Given the description of an element on the screen output the (x, y) to click on. 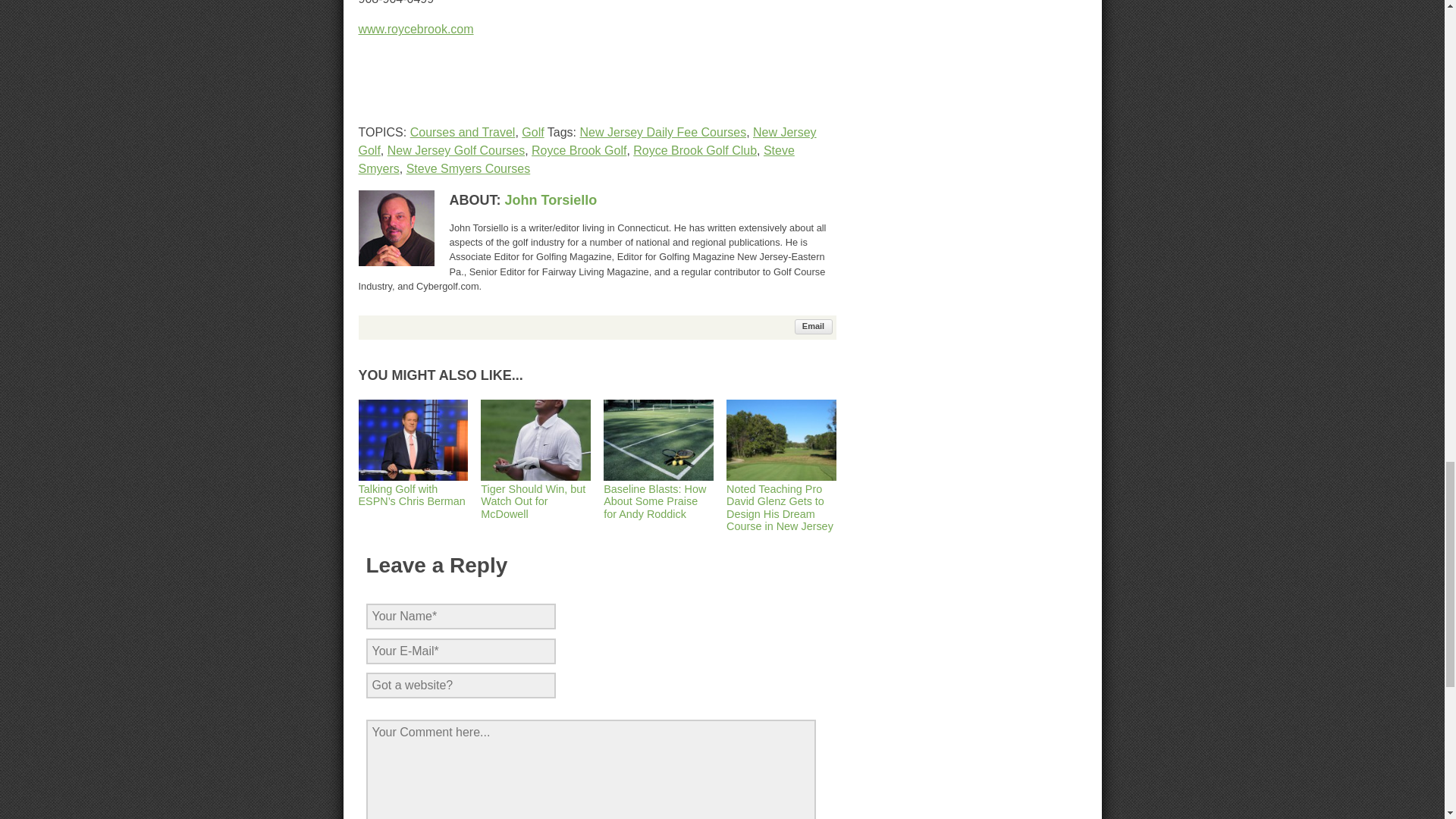
Royce Brook Golf (578, 150)
Courses and Travel (462, 132)
Baseline Blasts: How About Some Praise for Andy Roddick (658, 495)
Tiger Should Win, but Watch Out for McDowell (534, 495)
Royce Brook Golf Club (695, 150)
Tiger Should Win, but Watch Out for McDowell (534, 495)
Email (813, 326)
Baseline Blasts: How About Some Praise for Andy Roddick (658, 495)
Steve Smyers (575, 159)
New Jersey Daily Fee Courses (662, 132)
Golf (532, 132)
New Jersey Golf Courses (455, 150)
Steve Smyers Courses (468, 168)
